Given the description of an element on the screen output the (x, y) to click on. 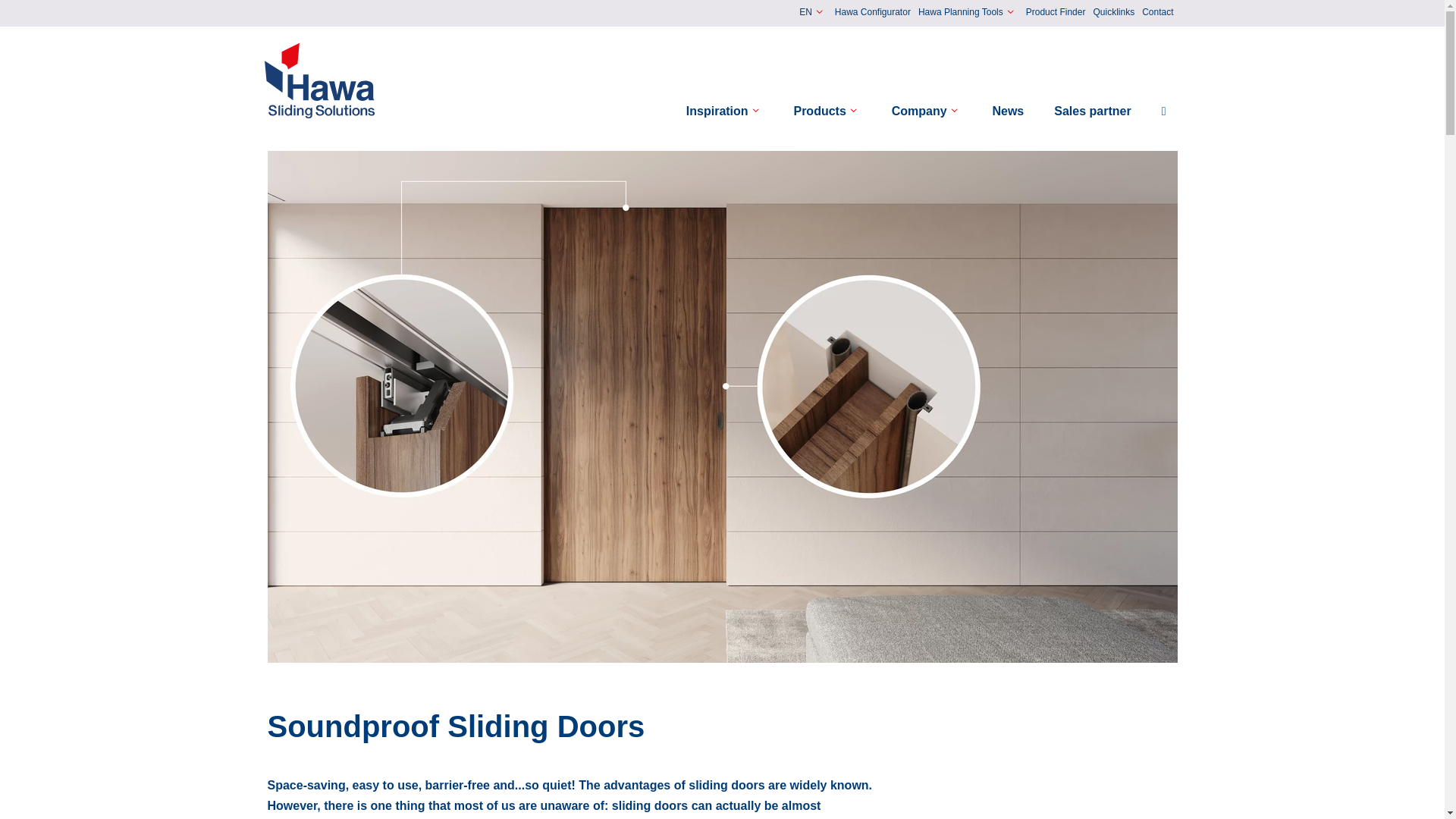
Hawa (320, 80)
EN (813, 12)
Hawa Planning Tools (967, 12)
Inspiration (724, 111)
Hawa Configurator (872, 12)
Company (926, 111)
Product Finder (1056, 12)
Contact (1157, 12)
Products (826, 111)
Quicklinks (1113, 12)
